Given the description of an element on the screen output the (x, y) to click on. 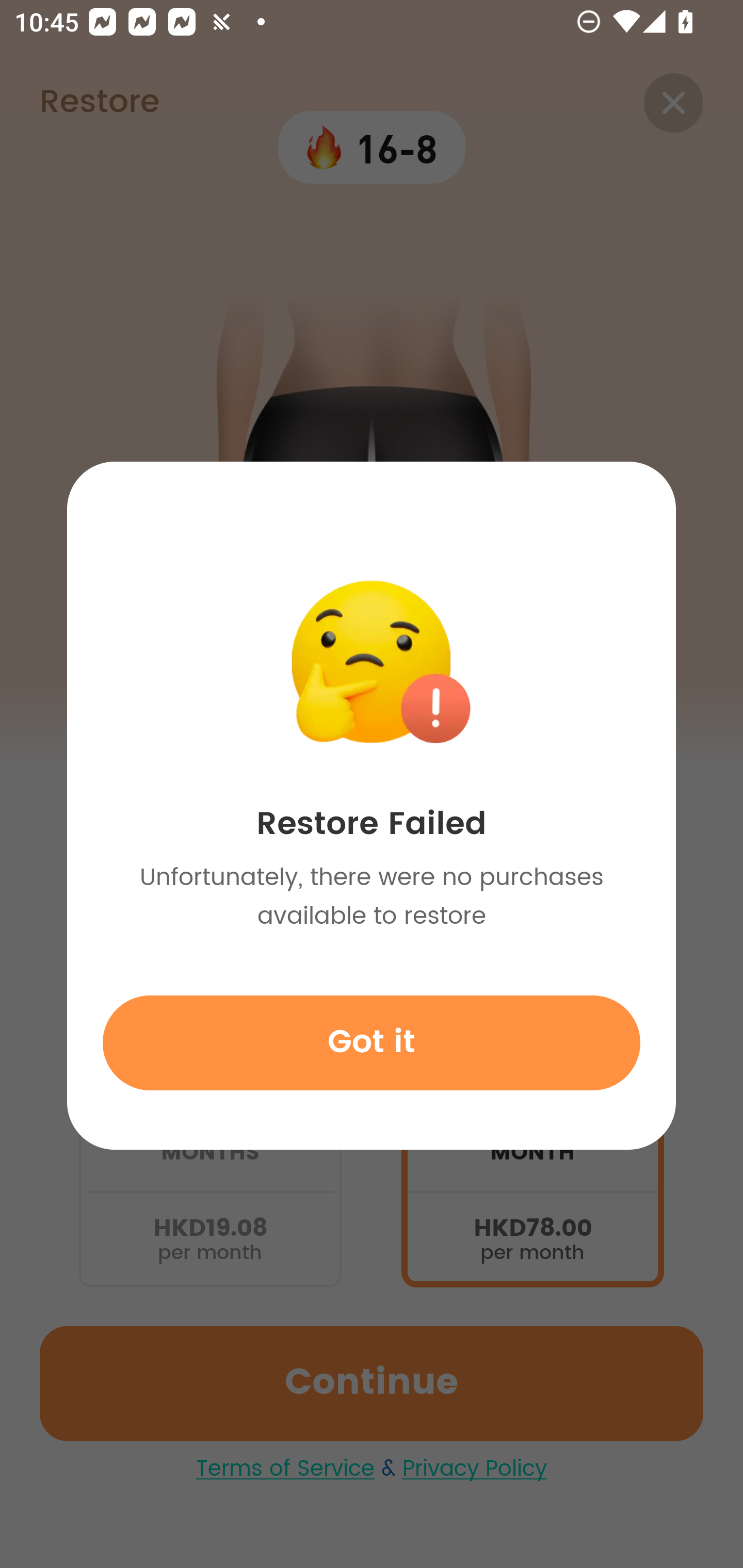
Got it (371, 1042)
